Given the description of an element on the screen output the (x, y) to click on. 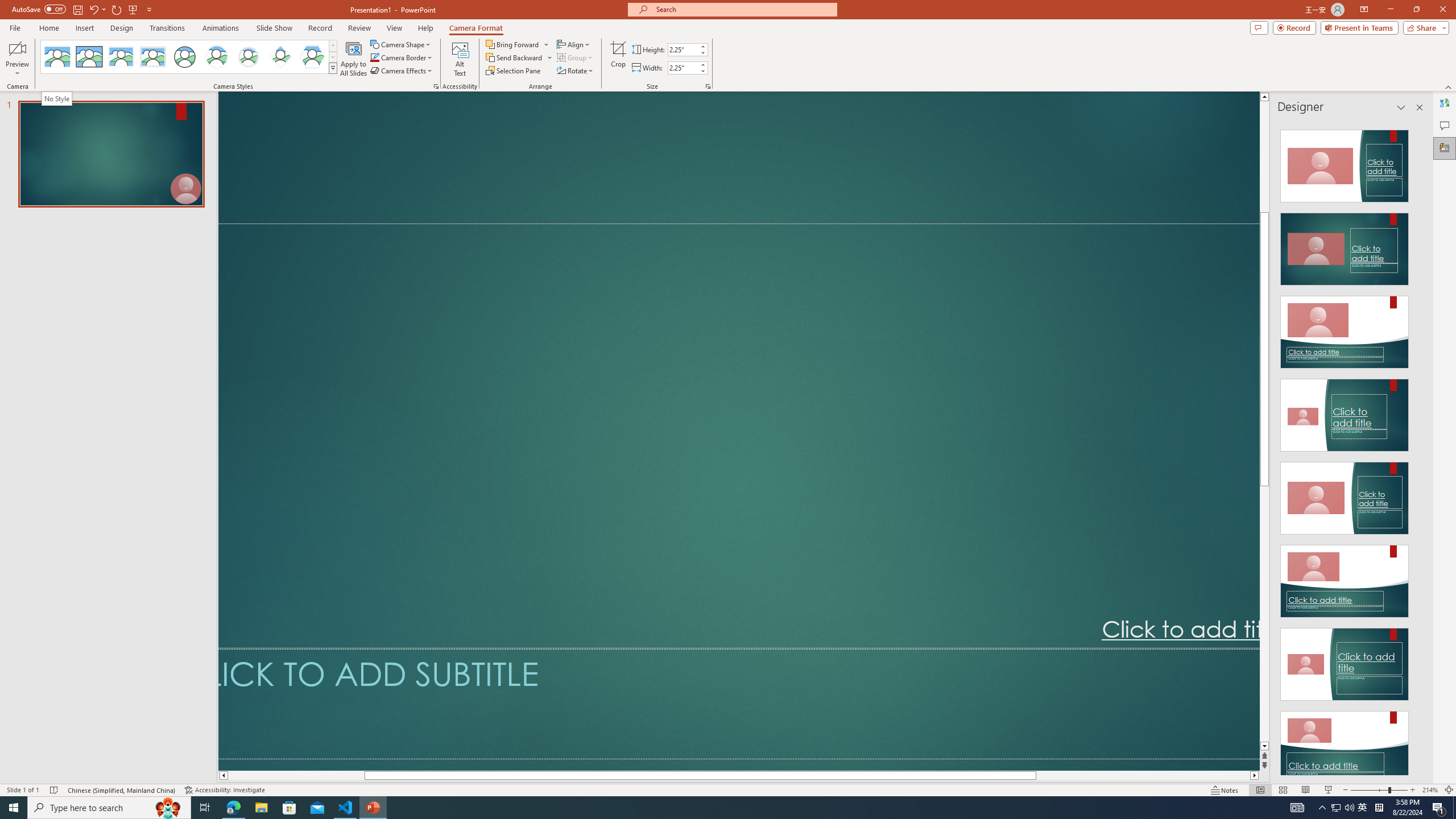
Align (574, 44)
